Given the description of an element on the screen output the (x, y) to click on. 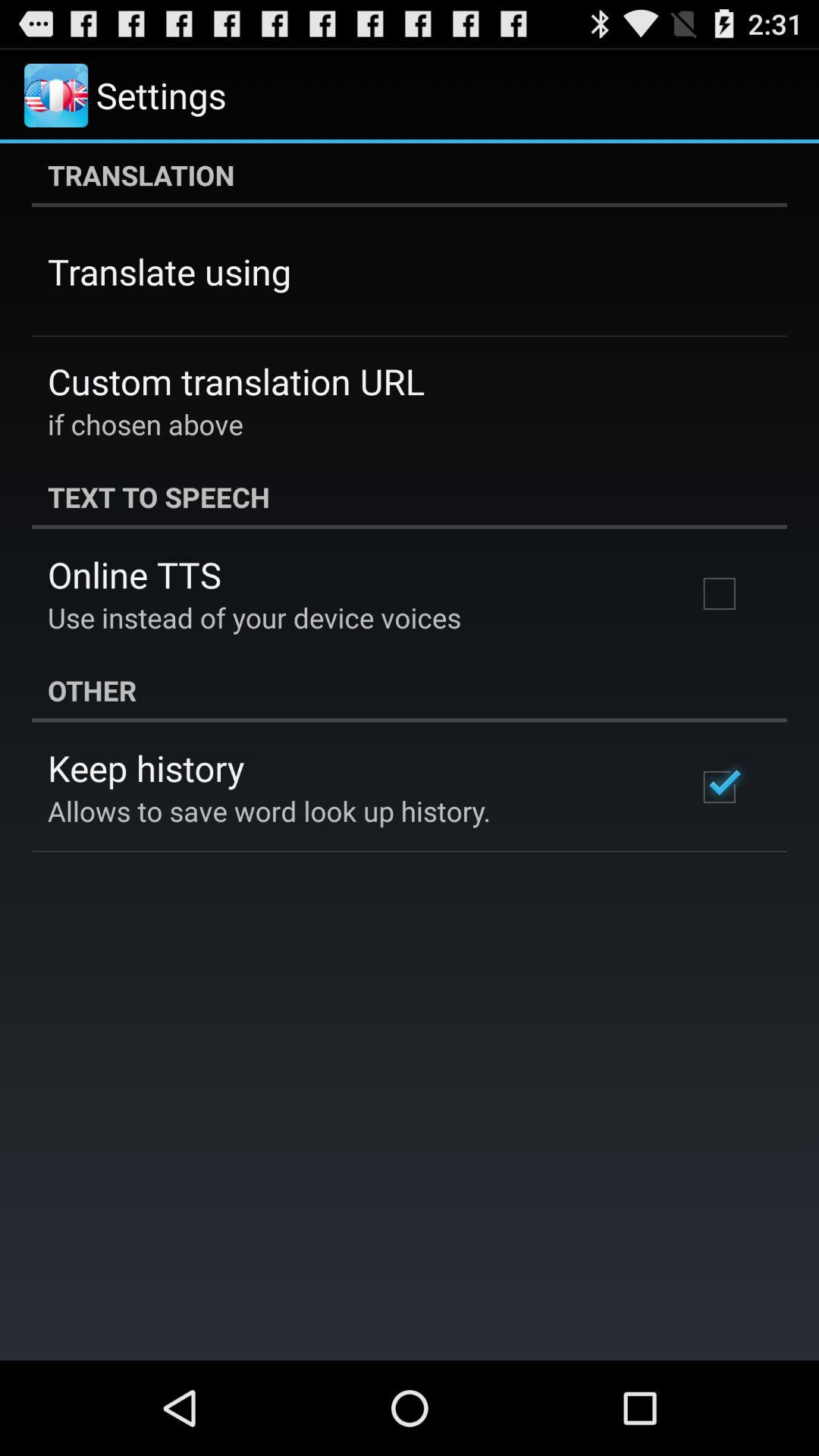
turn on the item below use instead of icon (409, 690)
